Given the description of an element on the screen output the (x, y) to click on. 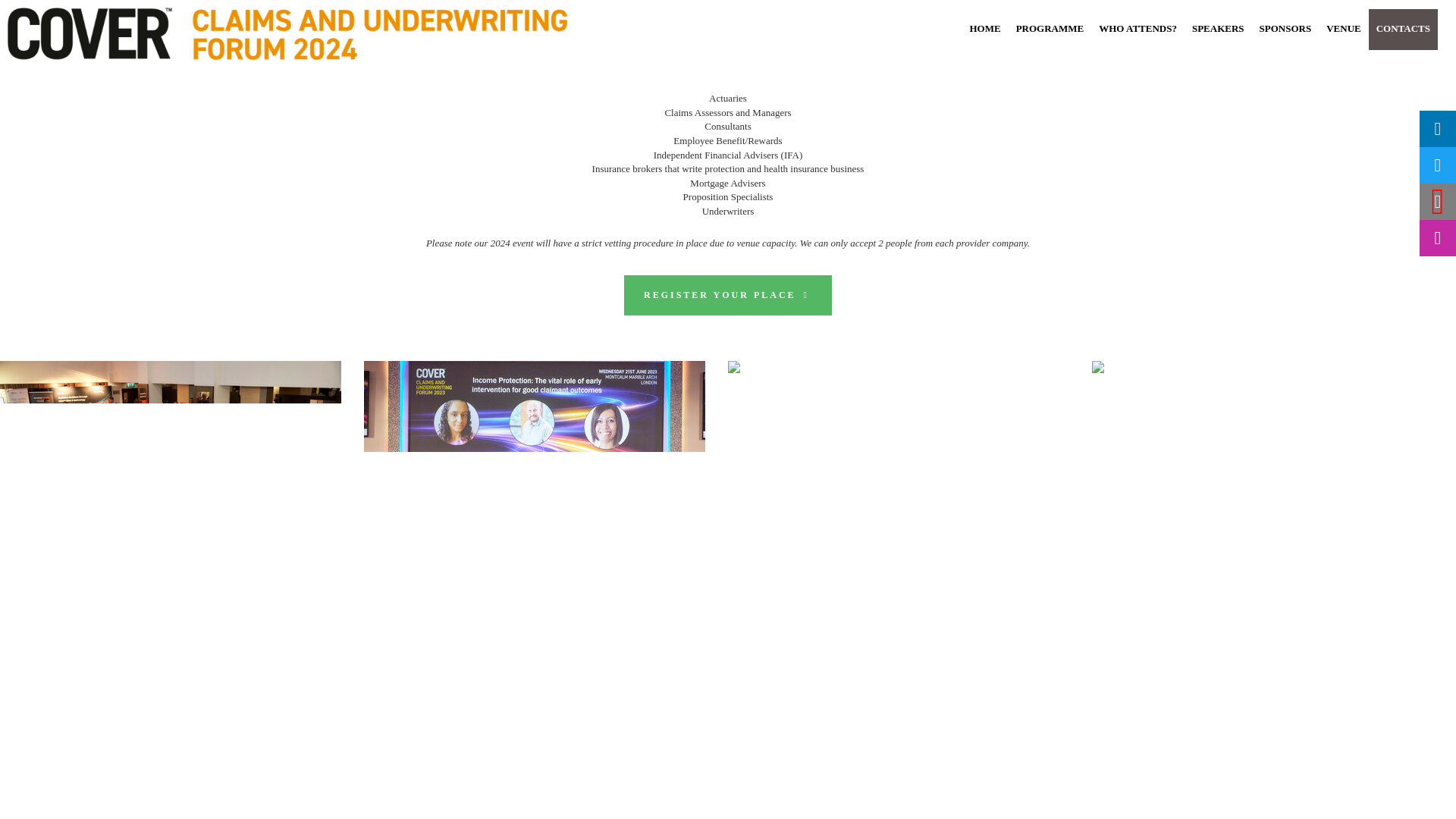
SPEAKERS (1218, 28)
HOME (983, 28)
SPONSORS (1285, 28)
REGISTER YOUR PLACE (727, 295)
VENUE (1343, 28)
PROGRAMME (1050, 28)
CONTACTS (1403, 28)
WHO ATTENDS? (1137, 28)
